Given the description of an element on the screen output the (x, y) to click on. 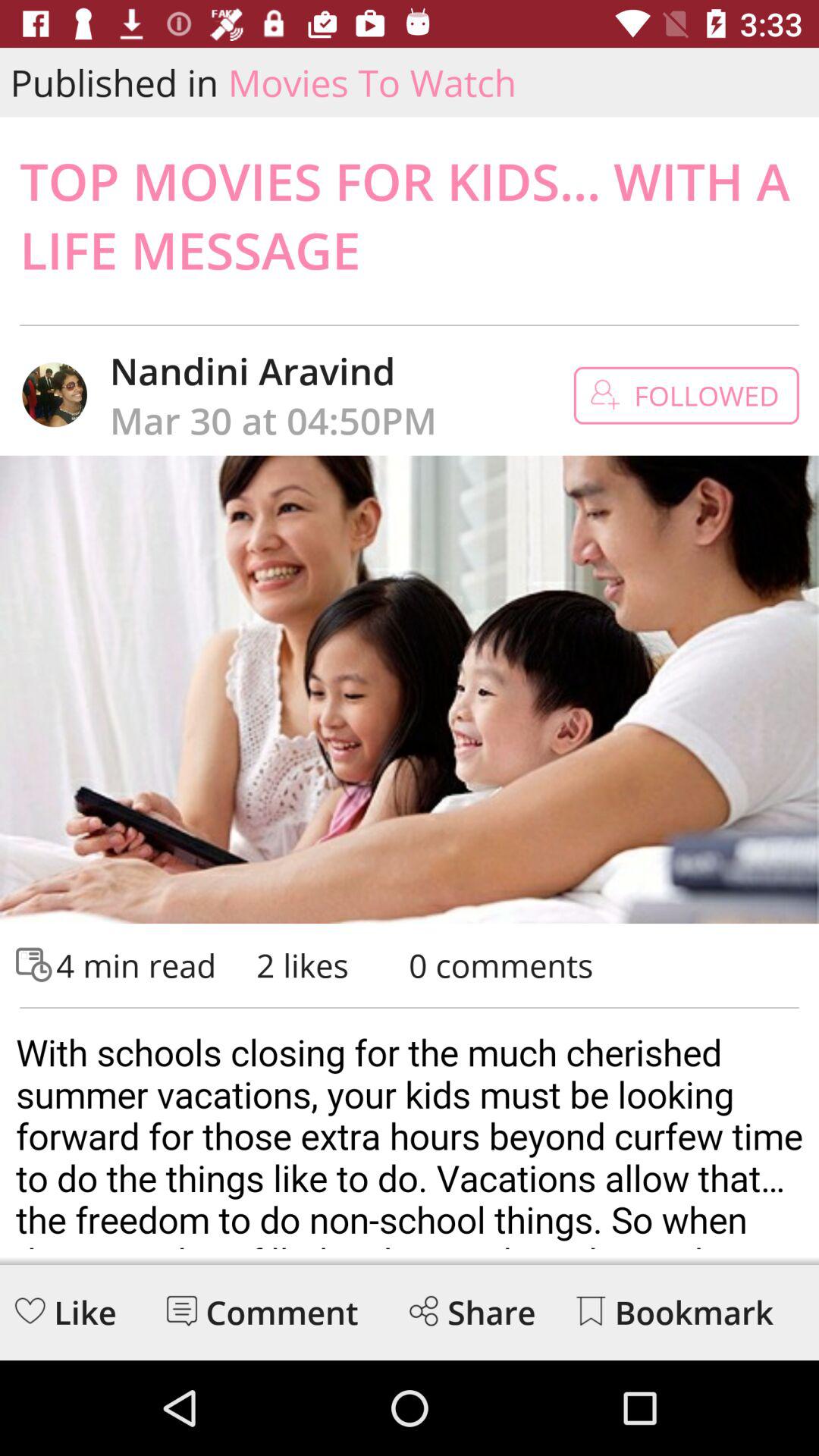
toggle like button (30, 1310)
